Given the description of an element on the screen output the (x, y) to click on. 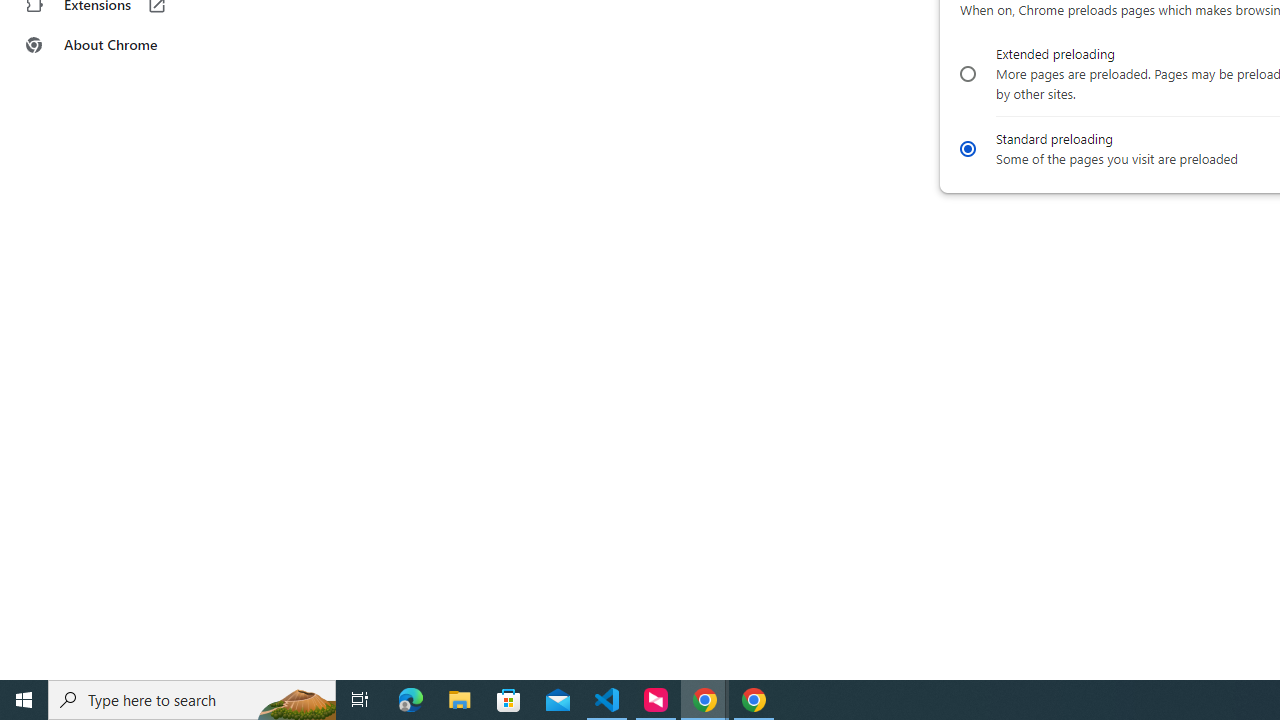
Standard preloading (966, 147)
Extended preloading (966, 74)
About Chrome (124, 44)
